Given the description of an element on the screen output the (x, y) to click on. 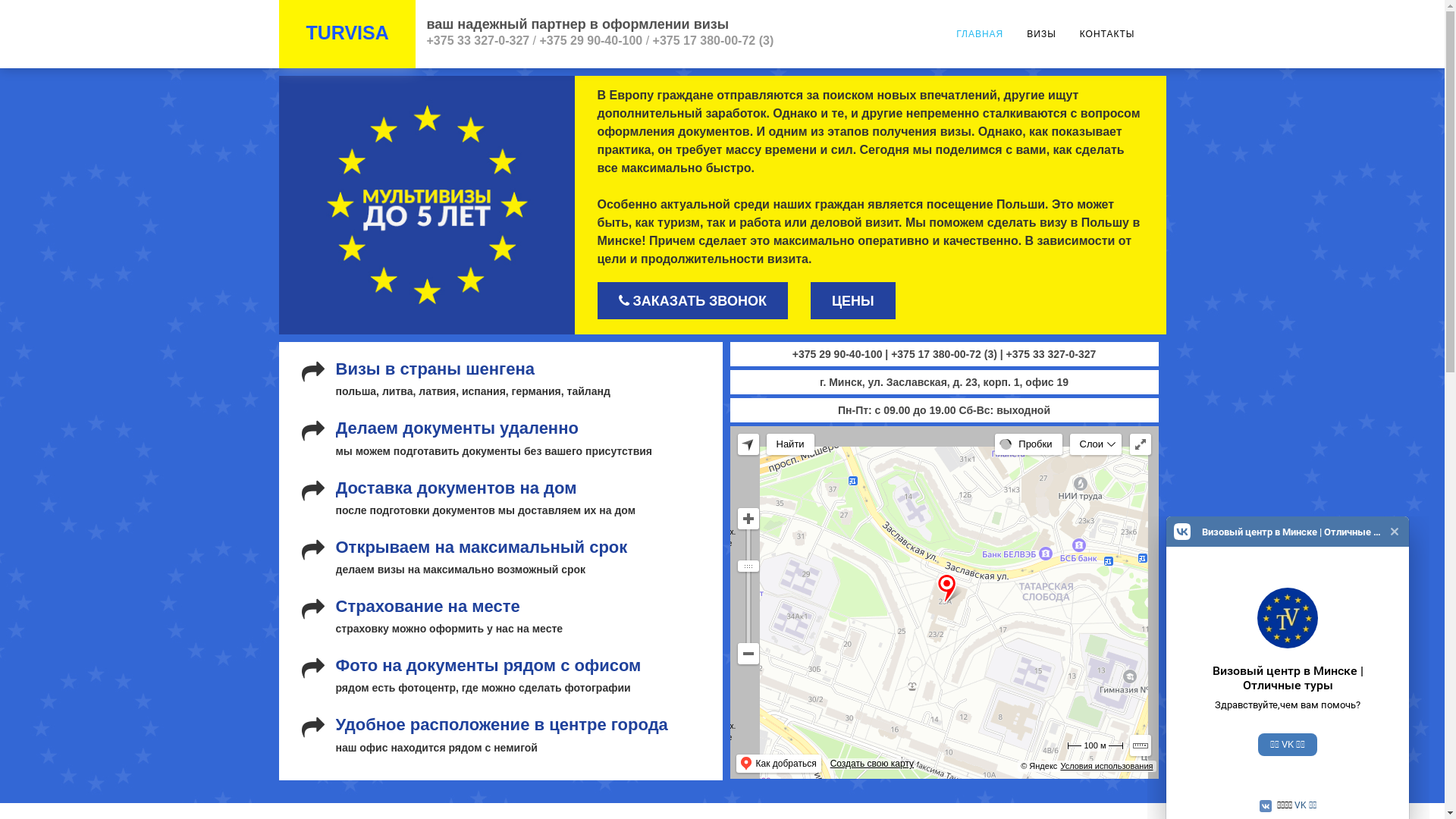
TURVISA Element type: text (347, 32)
